Given the description of an element on the screen output the (x, y) to click on. 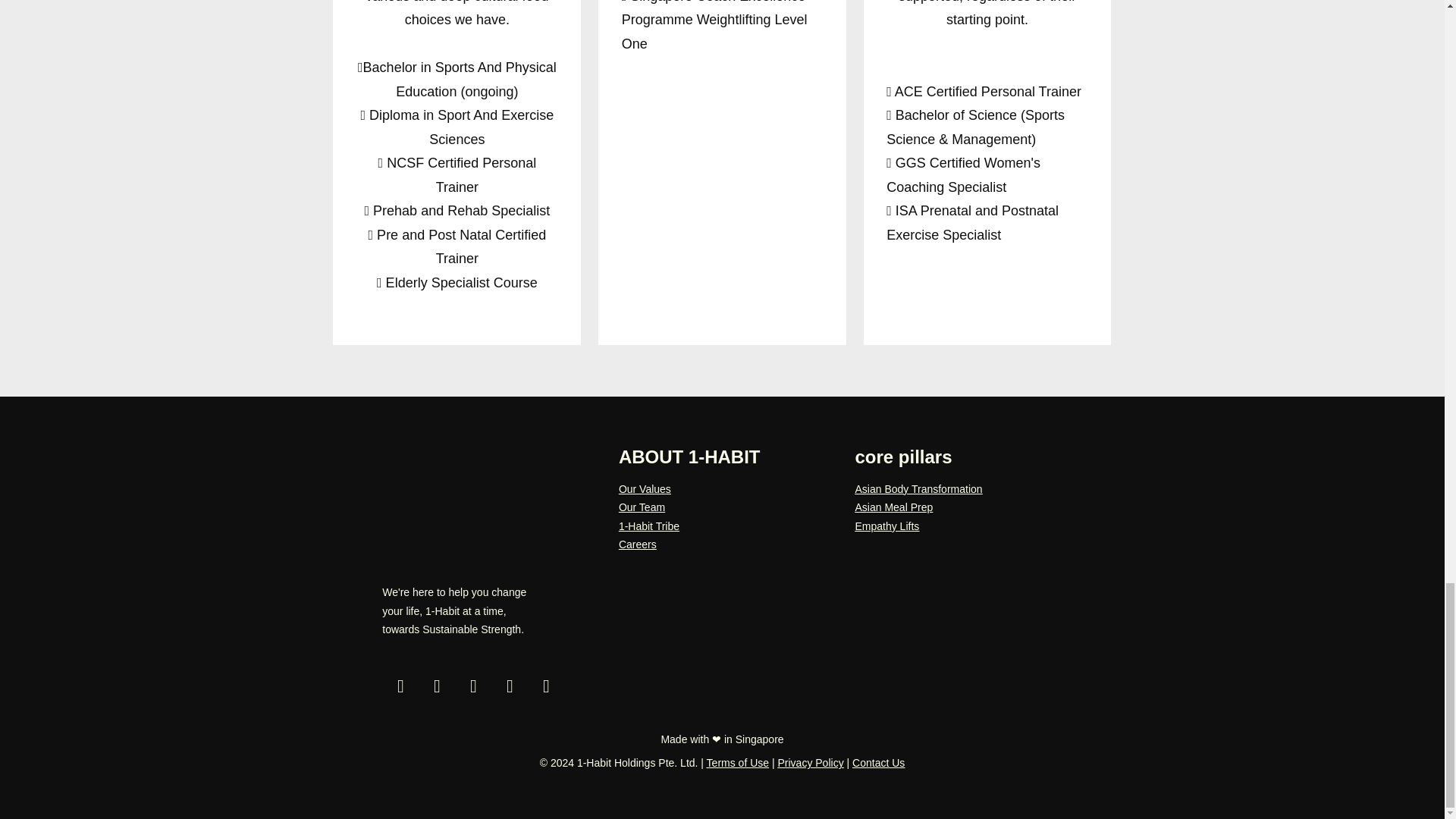
Share on TikTok (473, 686)
Share on Youtube (509, 686)
Terms of Use (737, 762)
Our Team (641, 507)
Careers (637, 544)
1-Habit Tribe (648, 526)
Empathy Lifts (886, 526)
Asian Meal Prep (893, 507)
Share on Facebook (436, 686)
Contact Us (877, 762)
